Given the description of an element on the screen output the (x, y) to click on. 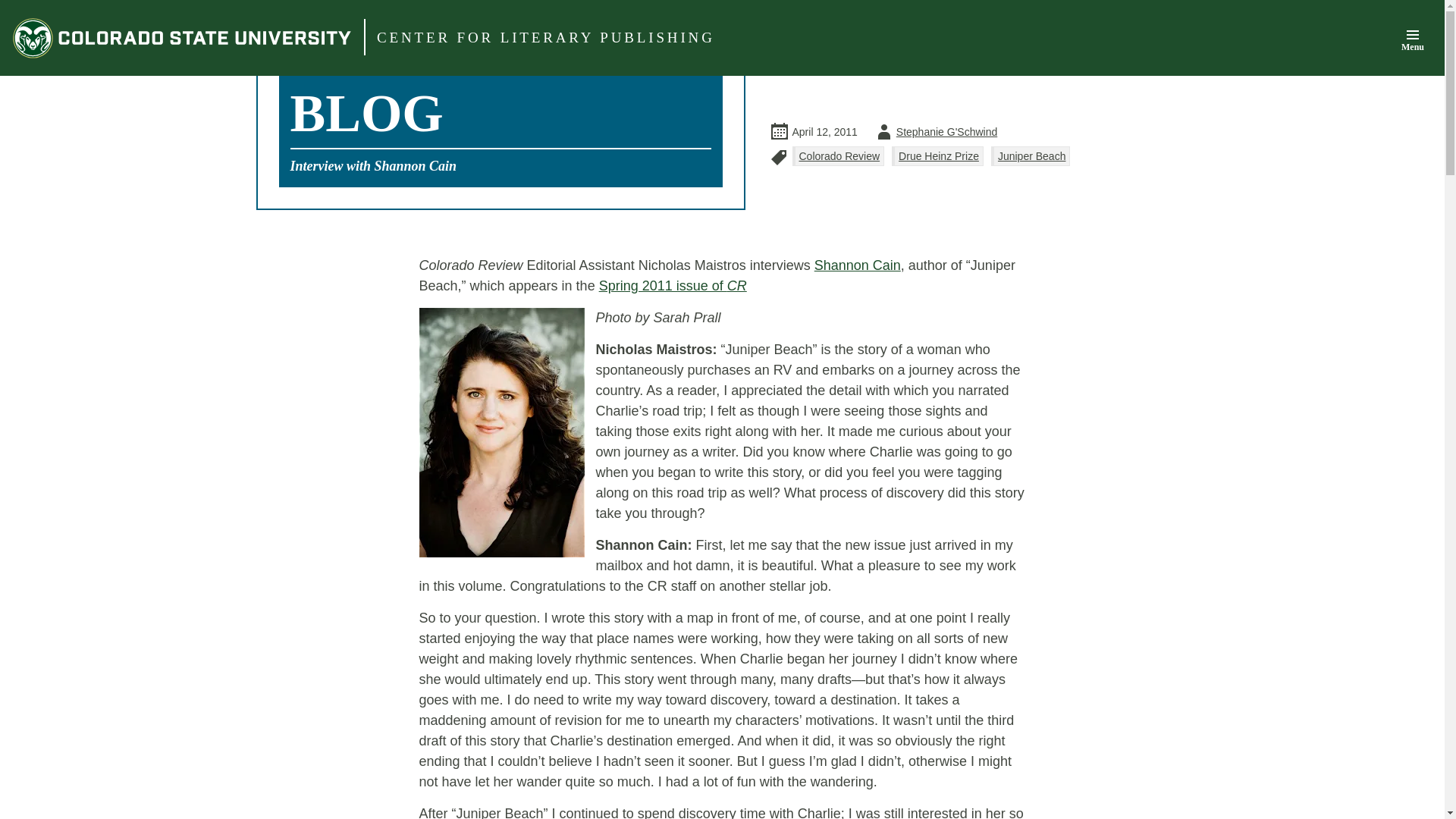
Drue Heinz Prize (937, 156)
CENTER FOR LITERARY PUBLISHING (934, 132)
Juniper Beach (545, 38)
Menu (1030, 156)
Colorado Review (1411, 38)
